Given the description of an element on the screen output the (x, y) to click on. 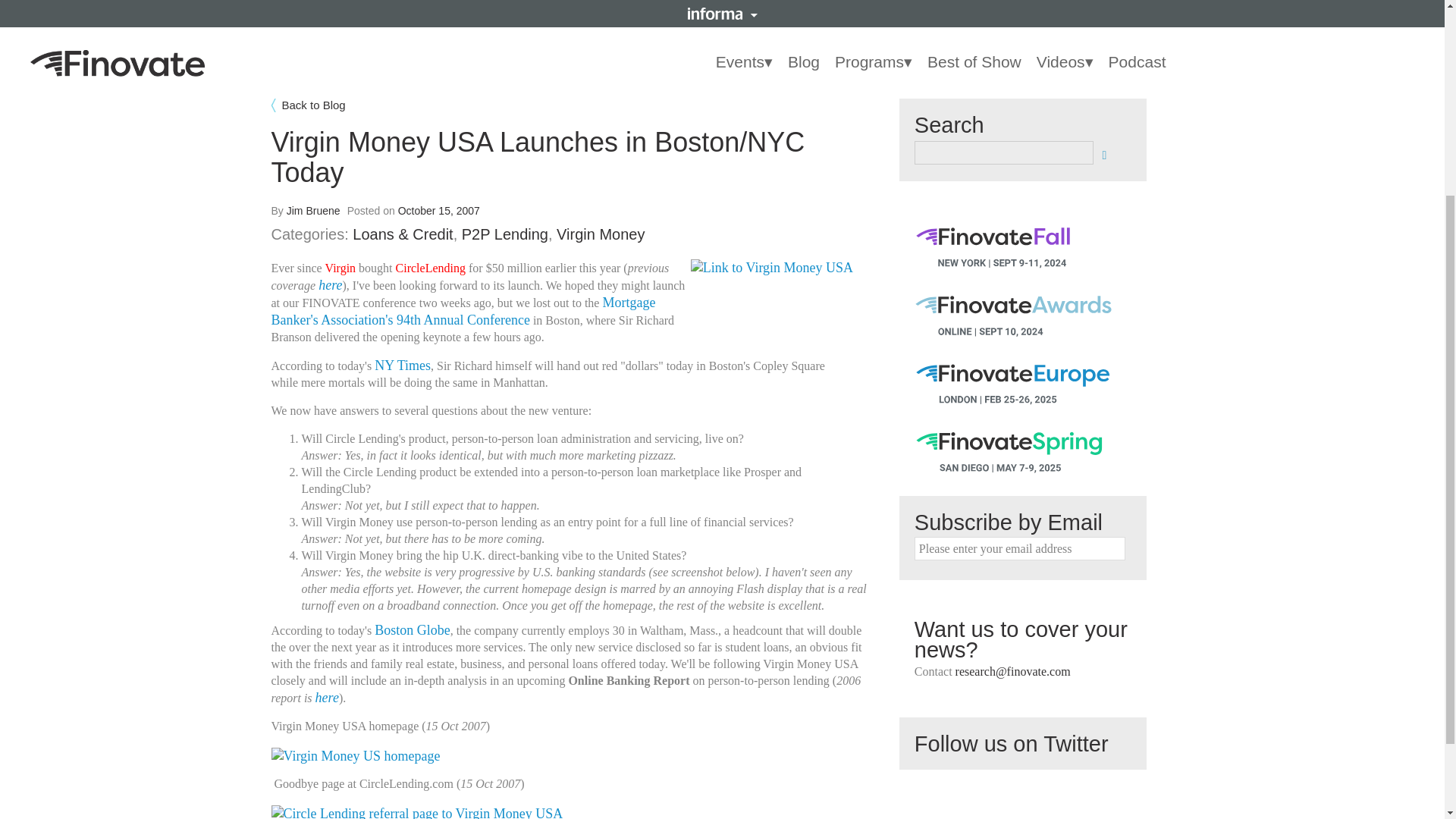
NY Times (402, 365)
here (327, 697)
Virgin Money (600, 234)
Back to Blog (571, 105)
Boston Globe (411, 630)
Please enter your email address (1019, 548)
Please enter your email address (1019, 548)
Jim Bruene (313, 210)
Mortgage Banker's Association's 94th Annual Conference (463, 310)
P2P Lending (504, 234)
here (330, 284)
October 15, 2007 (438, 210)
